Given the description of an element on the screen output the (x, y) to click on. 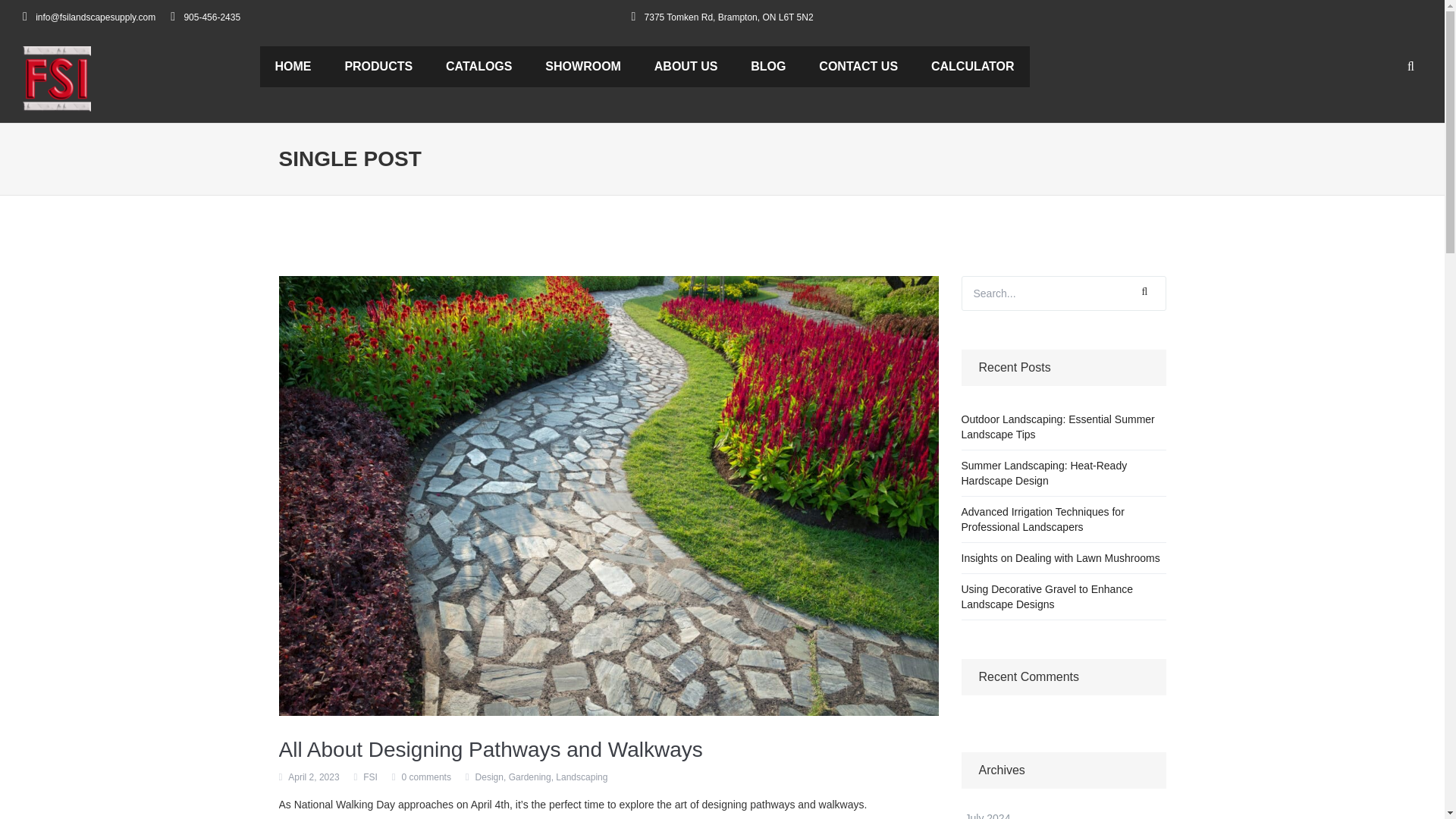
SHOWROOM (582, 65)
HOME (292, 65)
Search... (1063, 293)
PRODUCTS (378, 65)
FSI Landscape Supply (56, 78)
BLOG (767, 65)
ABOUT US (686, 65)
CALCULATOR (972, 65)
CONTACT US (857, 65)
View all posts by FSI (369, 777)
CATALOGS (478, 65)
